Given the description of an element on the screen output the (x, y) to click on. 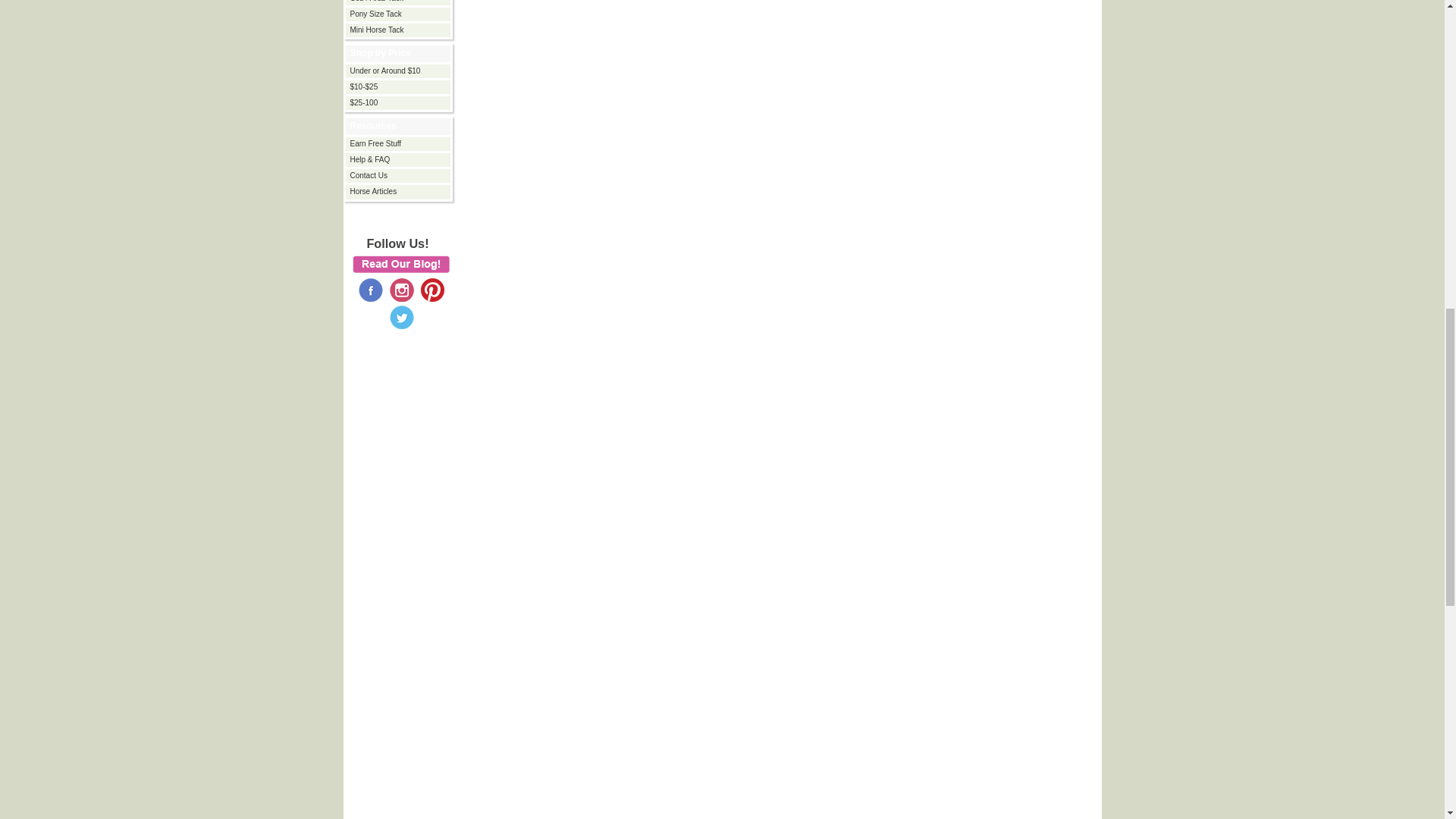
Like us on Facebook! (370, 288)
Follow us on Twitter! (401, 316)
Follow us on Instagram! (401, 288)
Visit our Pinterest page! (432, 288)
Visit our Blog! (400, 264)
